Given the description of an element on the screen output the (x, y) to click on. 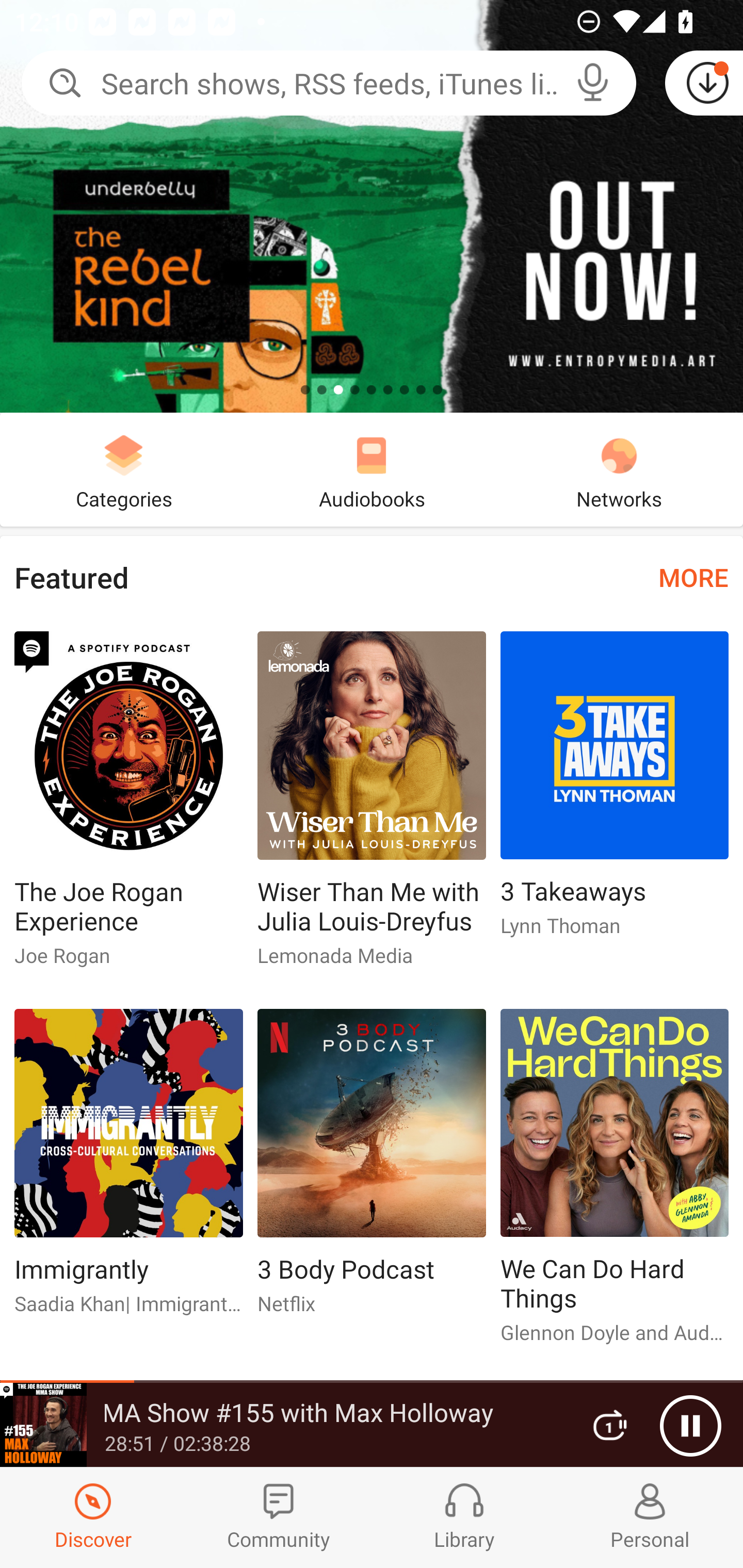
Underbelly (371, 206)
Categories (123, 469)
Audiobooks (371, 469)
Networks (619, 469)
MORE (693, 576)
3 Takeaways 3 Takeaways Lynn Thoman (614, 792)
3 Body Podcast 3 Body Podcast Netflix (371, 1169)
Pause (690, 1425)
Discover (92, 1517)
Community (278, 1517)
Library (464, 1517)
Profiles and Settings Personal (650, 1517)
